Given the description of an element on the screen output the (x, y) to click on. 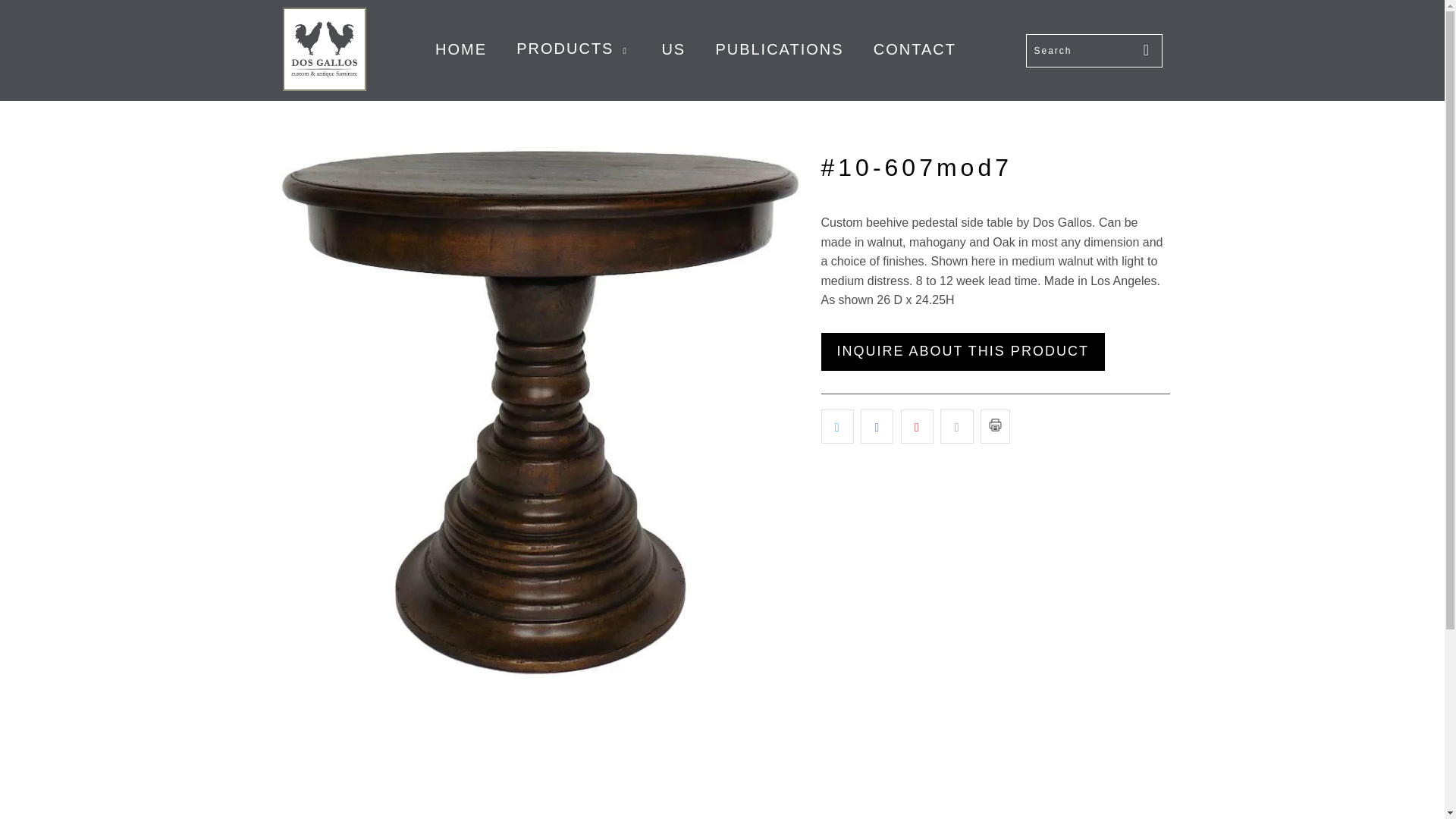
Email this to a friend (956, 426)
Share this on Facebook (876, 426)
Dos Gallos (323, 50)
Share this on Pinterest (917, 426)
Share this on Twitter (837, 426)
